Given the description of an element on the screen output the (x, y) to click on. 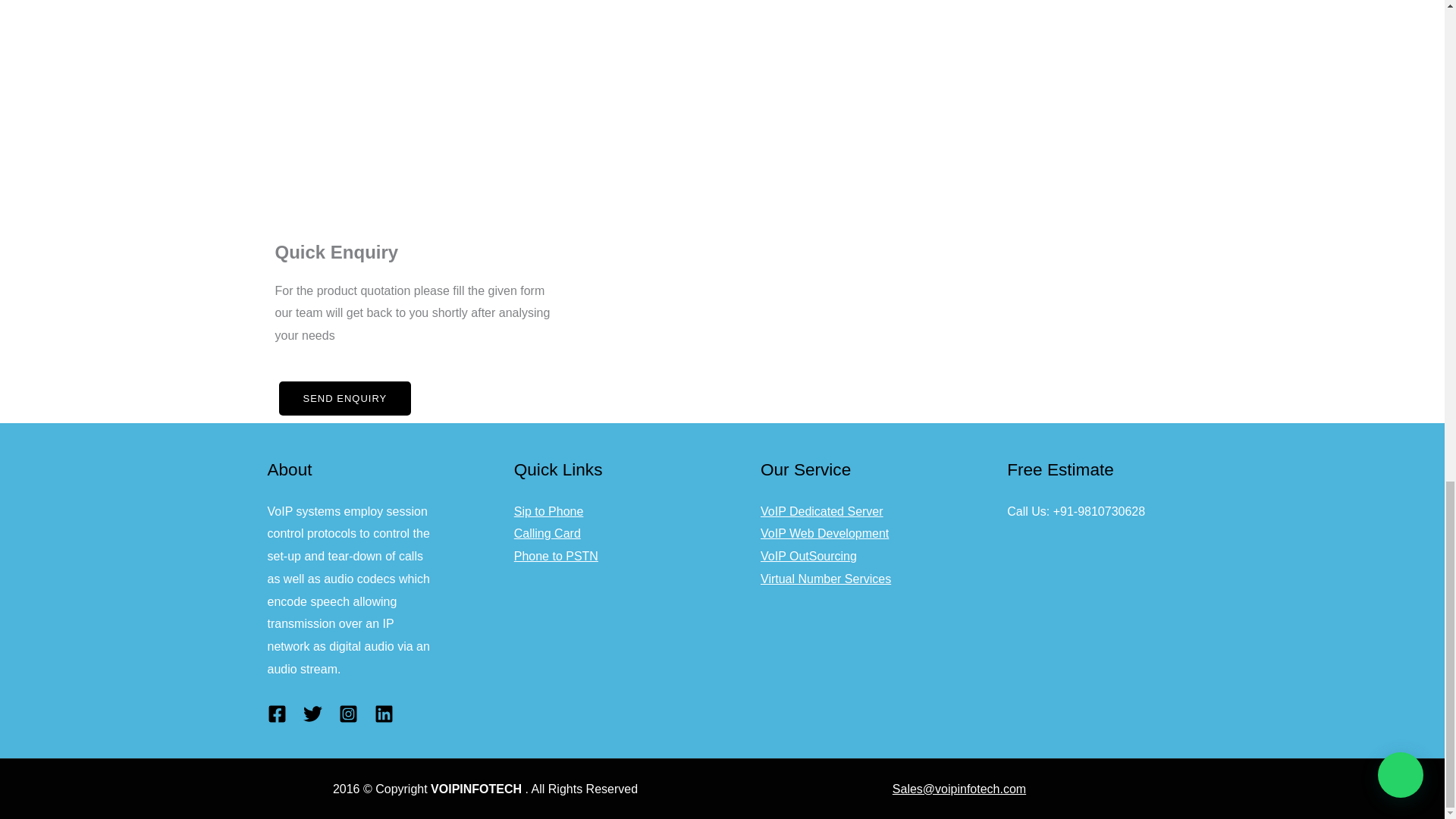
SEND ENQUIRY (345, 398)
